Given the description of an element on the screen output the (x, y) to click on. 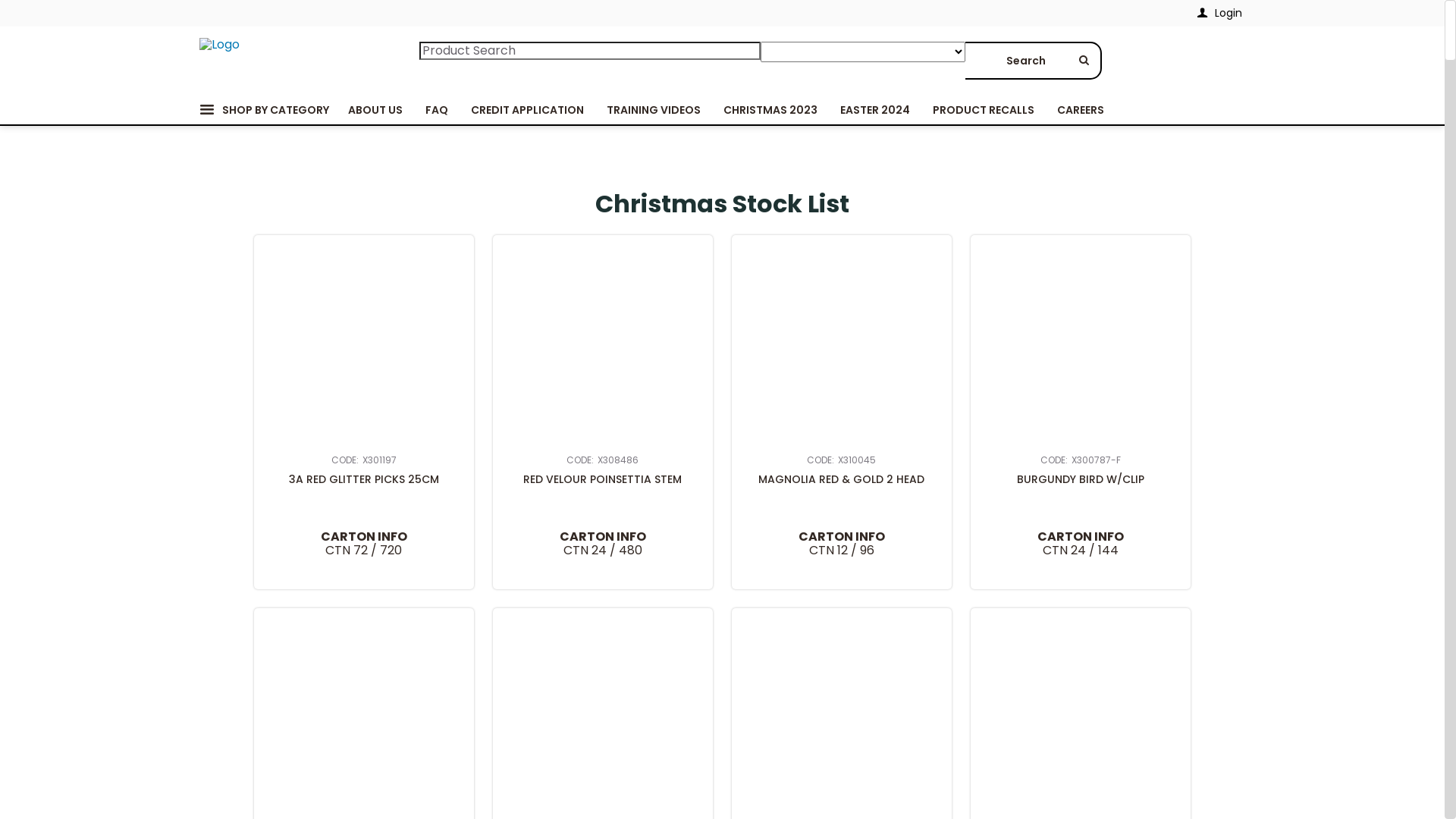
Login Element type: text (1219, 13)
TRAINING VIDEOS Element type: text (652, 109)
CHRISTMAS 2023 Element type: text (769, 109)
MAGNOLIA RED & GOLD 2 HEAD Element type: text (841, 479)
BURGUNDY BIRD W/CLIP Element type: hover (1080, 344)
3A RED GLITTER PICKS 25CM Element type: hover (363, 344)
BURGUNDY BIRD W/CLIP Element type: text (1080, 479)
FAQ Element type: text (436, 109)
EASTER 2024 Element type: text (874, 109)
CREDIT APPLICATION Element type: text (527, 109)
CAREERS Element type: text (1079, 109)
PRODUCT RECALLS Element type: text (982, 109)
MAGNOLIA RED & GOLD 2 HEAD Element type: hover (841, 344)
ABOUT US Element type: text (375, 109)
RED VELOUR POINSETTIA STEM Element type: text (602, 479)
3A RED GLITTER PICKS 25CM Element type: text (363, 479)
Search Element type: text (1032, 60)
RED VELOUR POINSETTIA STEM Element type: hover (602, 344)
